Given the description of an element on the screen output the (x, y) to click on. 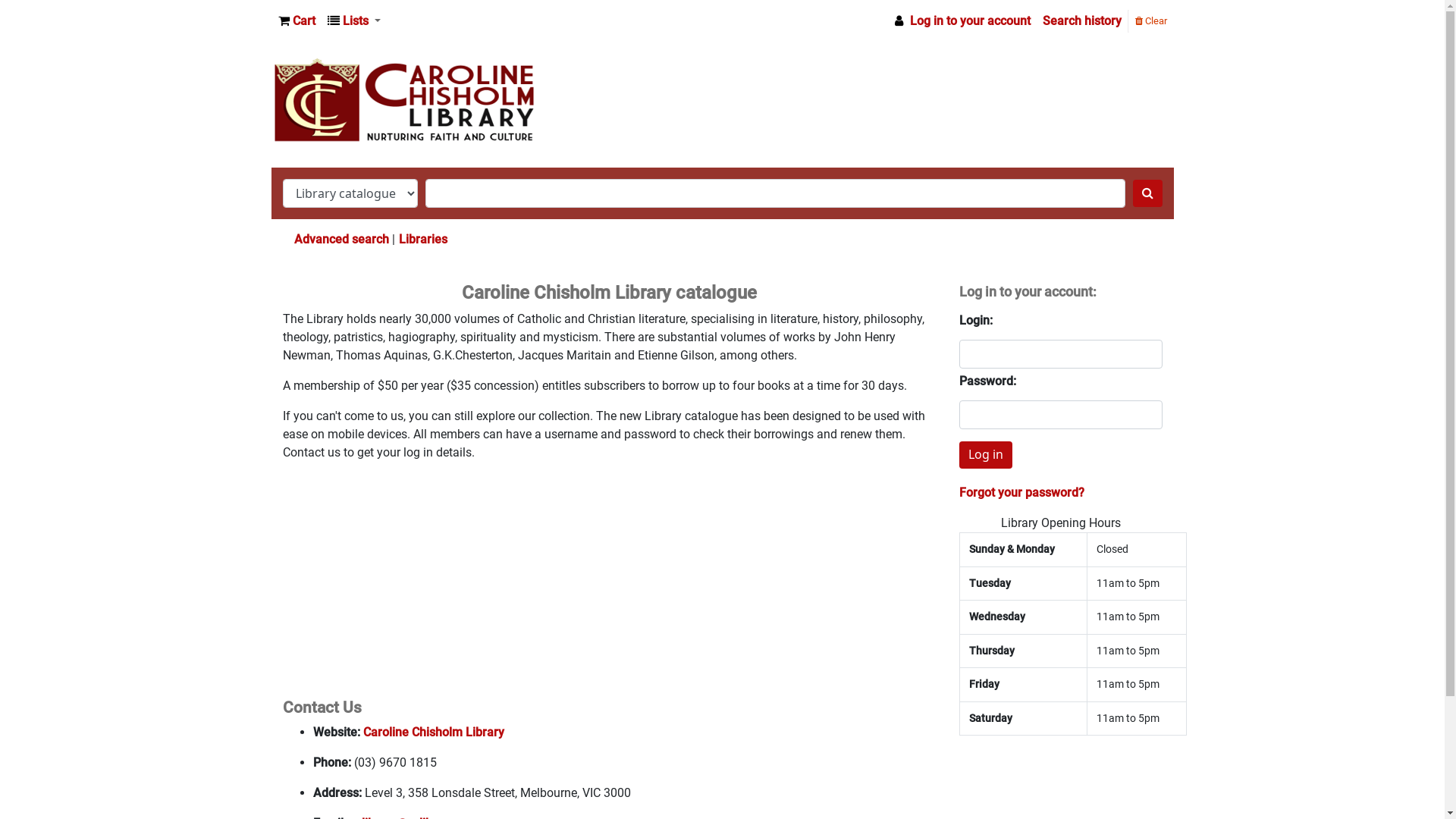
Lists Element type: text (353, 21)
Forgot your password? Element type: text (1021, 492)
Advanced search Element type: text (341, 239)
Search history Element type: text (1080, 21)
Caroline Chisholm Library Element type: text (432, 731)
Log in to your account Element type: text (960, 21)
Cart Element type: text (295, 21)
Log in Element type: text (985, 454)
Search Element type: hover (1147, 193)
Libraries Element type: text (422, 239)
Clear Element type: text (1150, 20)
